Given the description of an element on the screen output the (x, y) to click on. 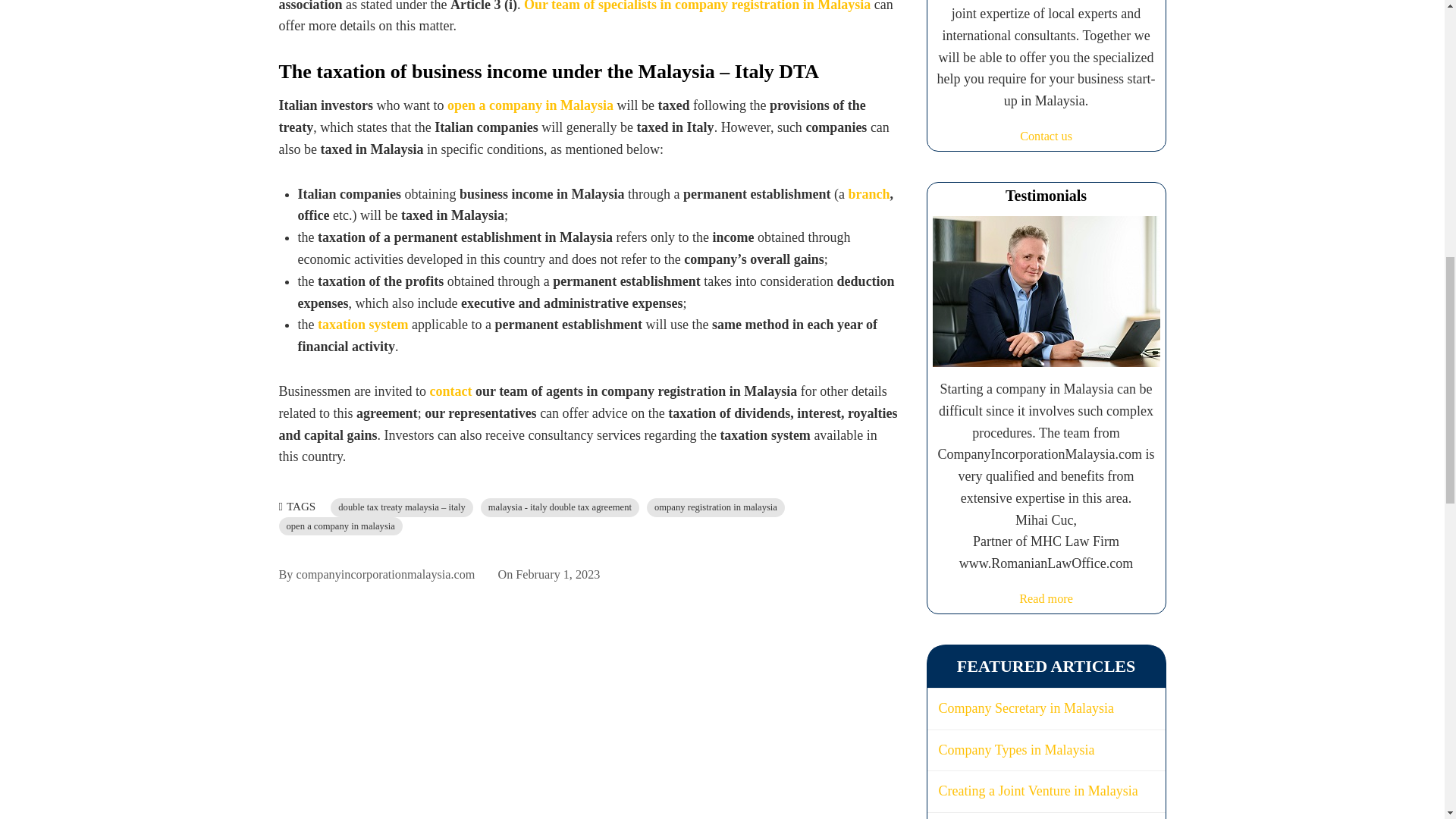
branch (868, 193)
open a company in Malaysia (529, 105)
Our team of specialists in company registration in Malaysia (697, 6)
taxation system (363, 324)
